Given the description of an element on the screen output the (x, y) to click on. 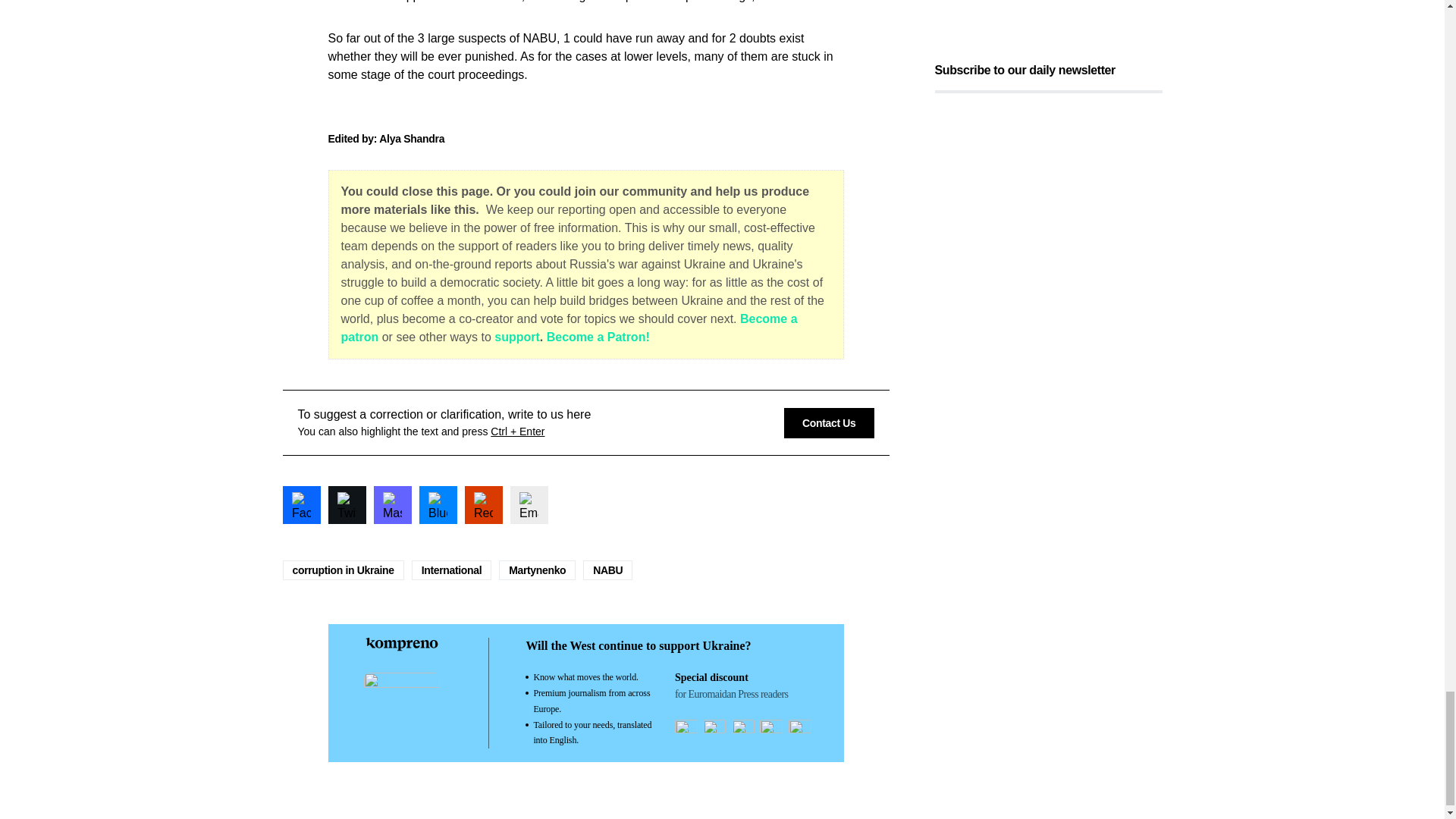
Share to Twitter (346, 505)
Share to Facebook (301, 505)
Share to Bluesky (438, 505)
Share to Reddit (483, 505)
Share to Email (528, 505)
Share to Mastodon (391, 505)
